Given the description of an element on the screen output the (x, y) to click on. 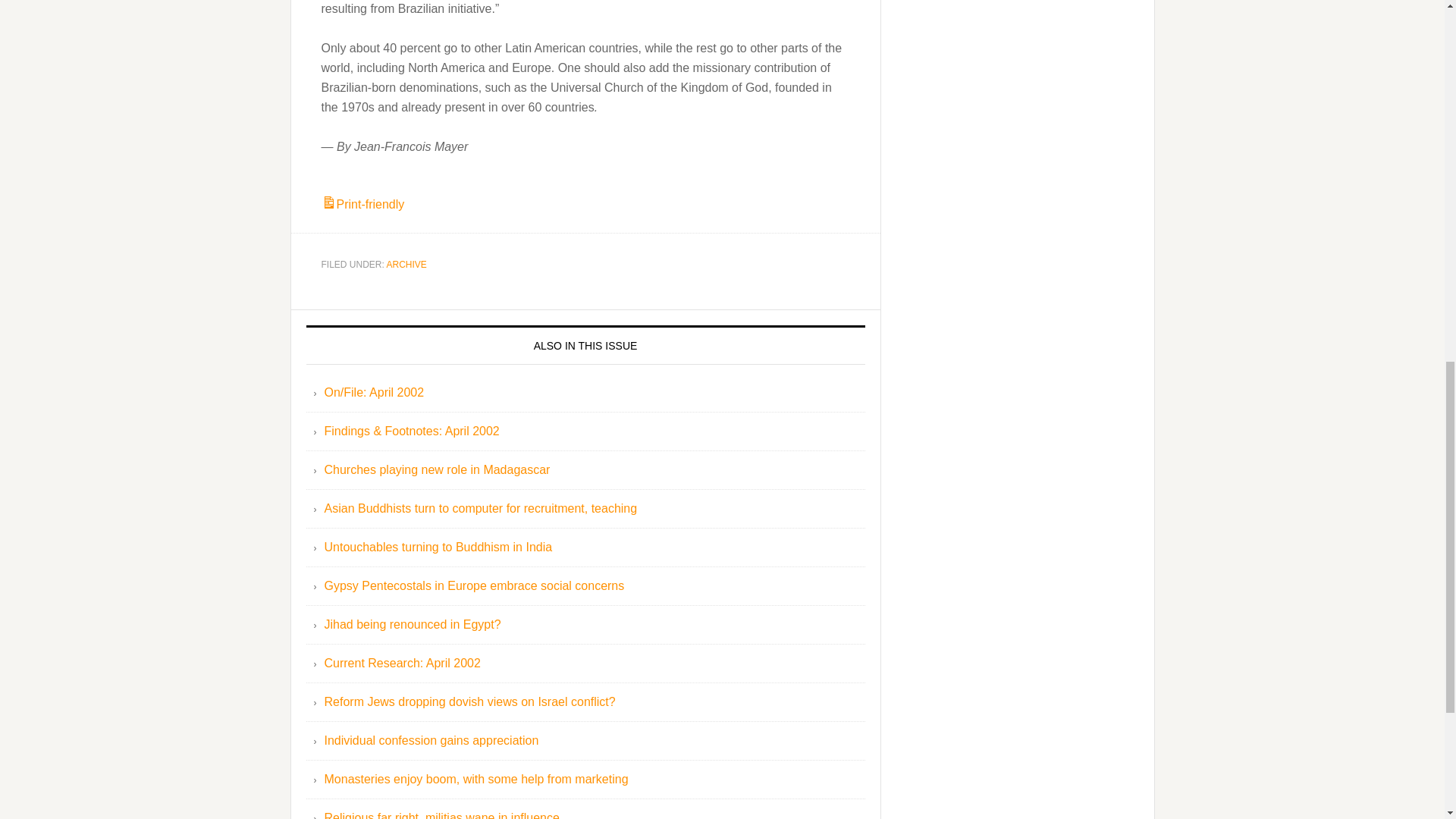
Untouchables turning to Buddhism in India (438, 546)
Gypsy Pentecostals in Europe embrace social concerns (474, 585)
Jihad being renounced in Egypt? (412, 624)
Current Research: April 2002 (402, 662)
Asian Buddhists turn to computer for recruitment, teaching (480, 508)
Monasteries enjoy boom, with some help from marketing (476, 779)
Churches playing new role in Madagascar (437, 469)
Reform Jews dropping dovish views on Israel conflict? (469, 701)
Individual confession gains appreciation (431, 739)
ARCHIVE (406, 264)
Print-friendly (362, 204)
Religious far right, militias wane in influence (441, 815)
